Given the description of an element on the screen output the (x, y) to click on. 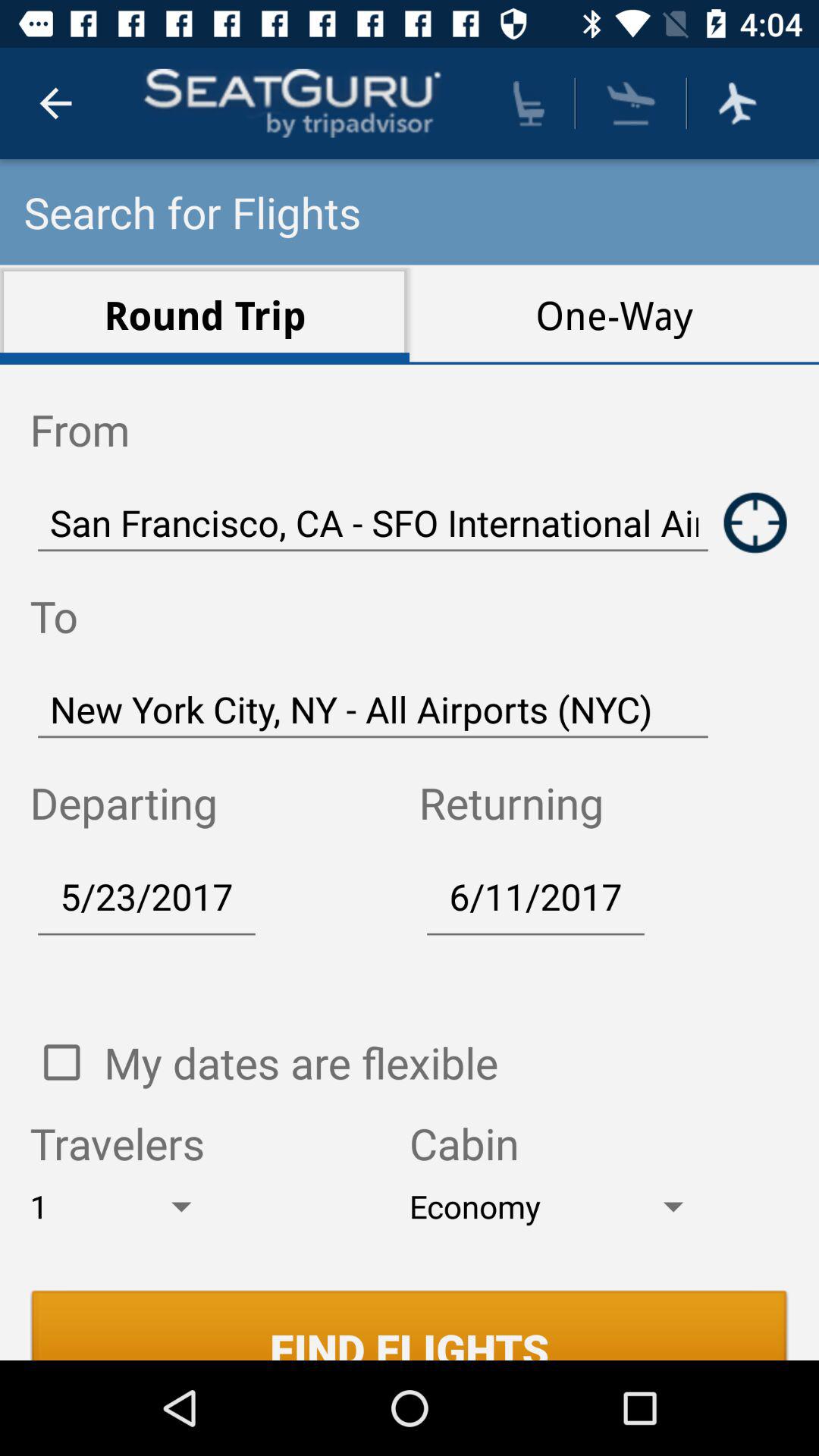
press the icon above the from (204, 314)
